Given the description of an element on the screen output the (x, y) to click on. 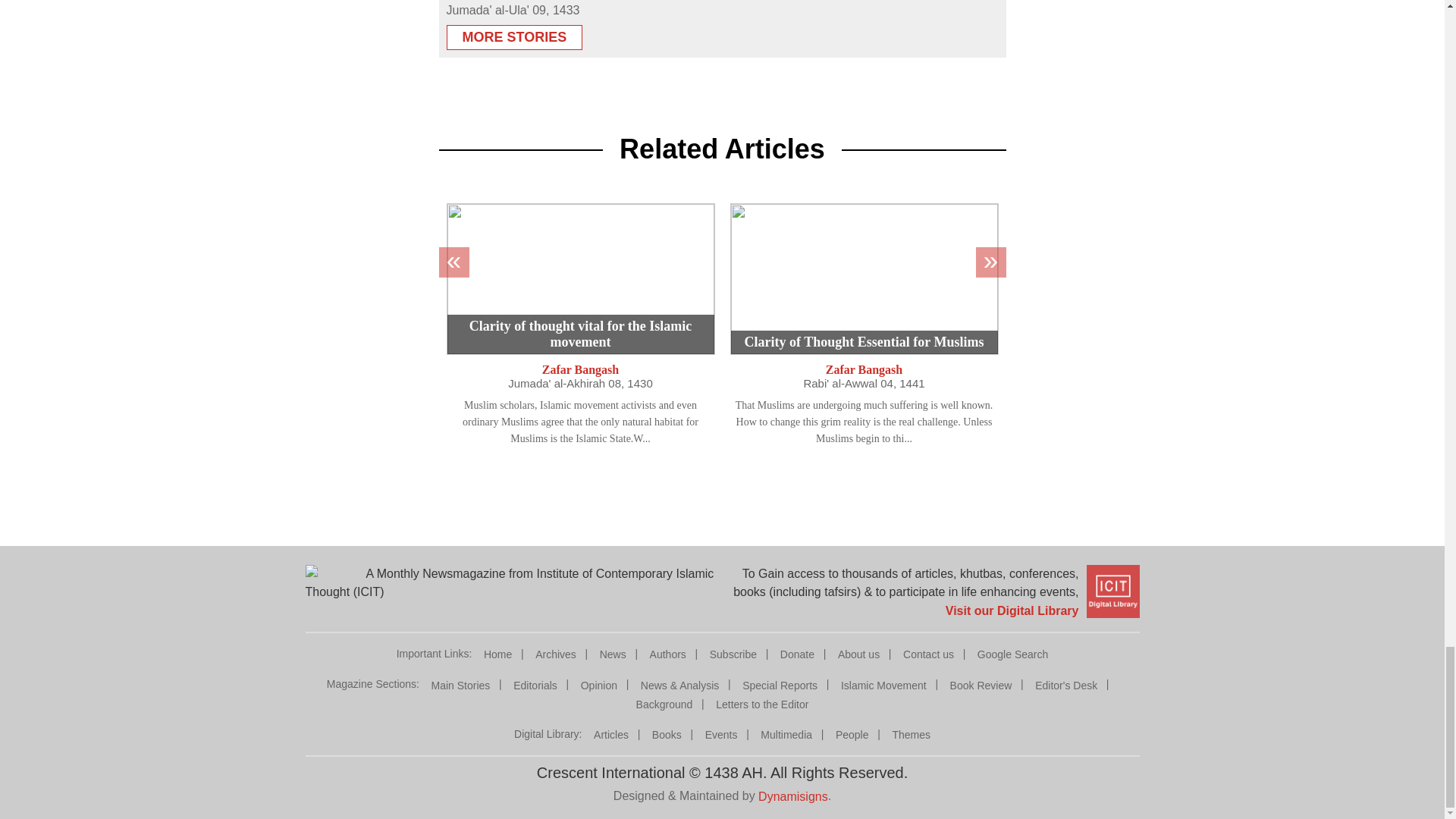
MORE STORIES (513, 37)
Zafar Bangash (580, 369)
MORE STORIES (513, 32)
Clarity of thought vital for the Islamic movement (579, 278)
